Given the description of an element on the screen output the (x, y) to click on. 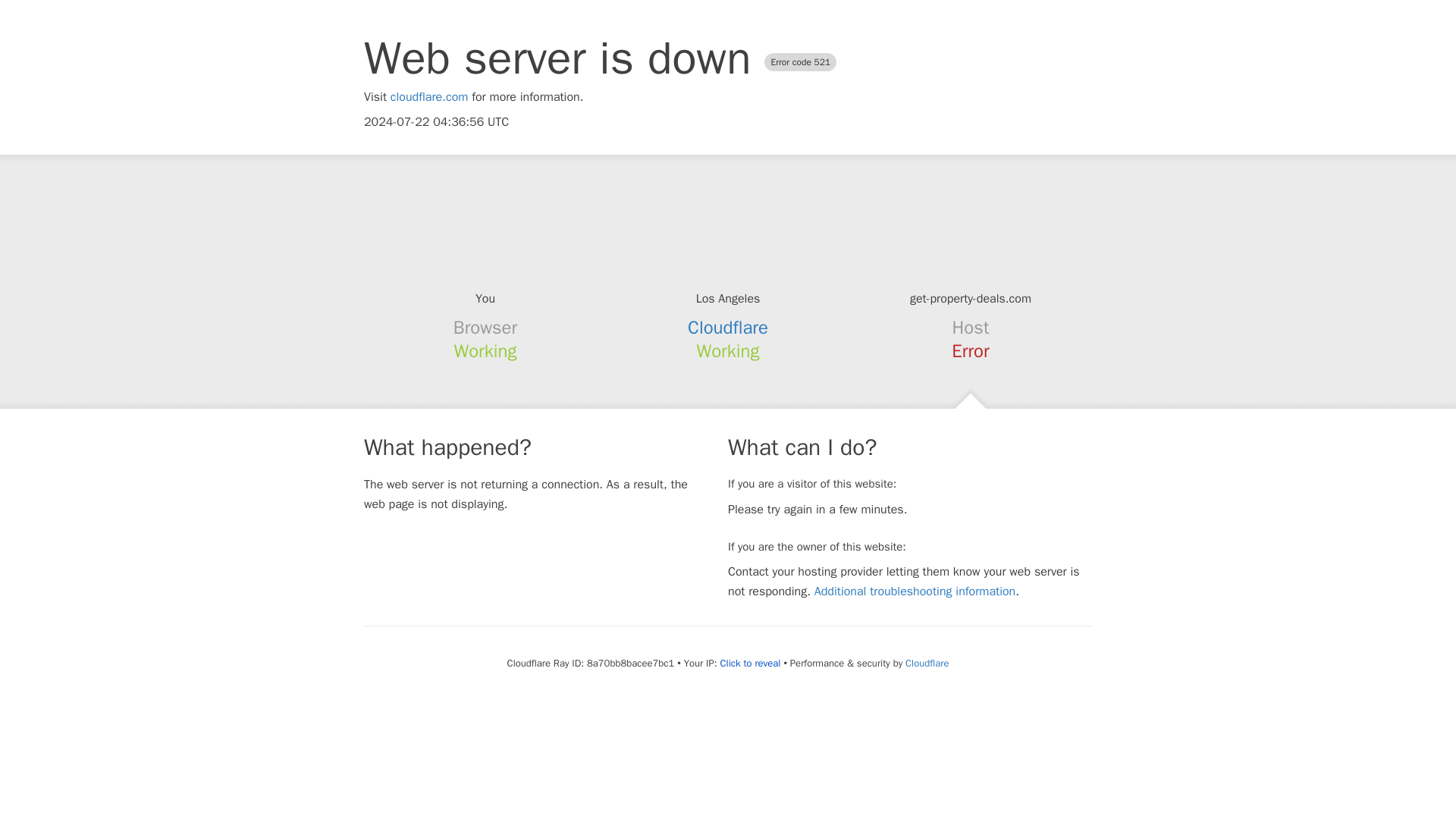
cloudflare.com (429, 96)
Additional troubleshooting information (913, 590)
Cloudflare (727, 327)
Click to reveal (750, 663)
Cloudflare (927, 662)
